Given the description of an element on the screen output the (x, y) to click on. 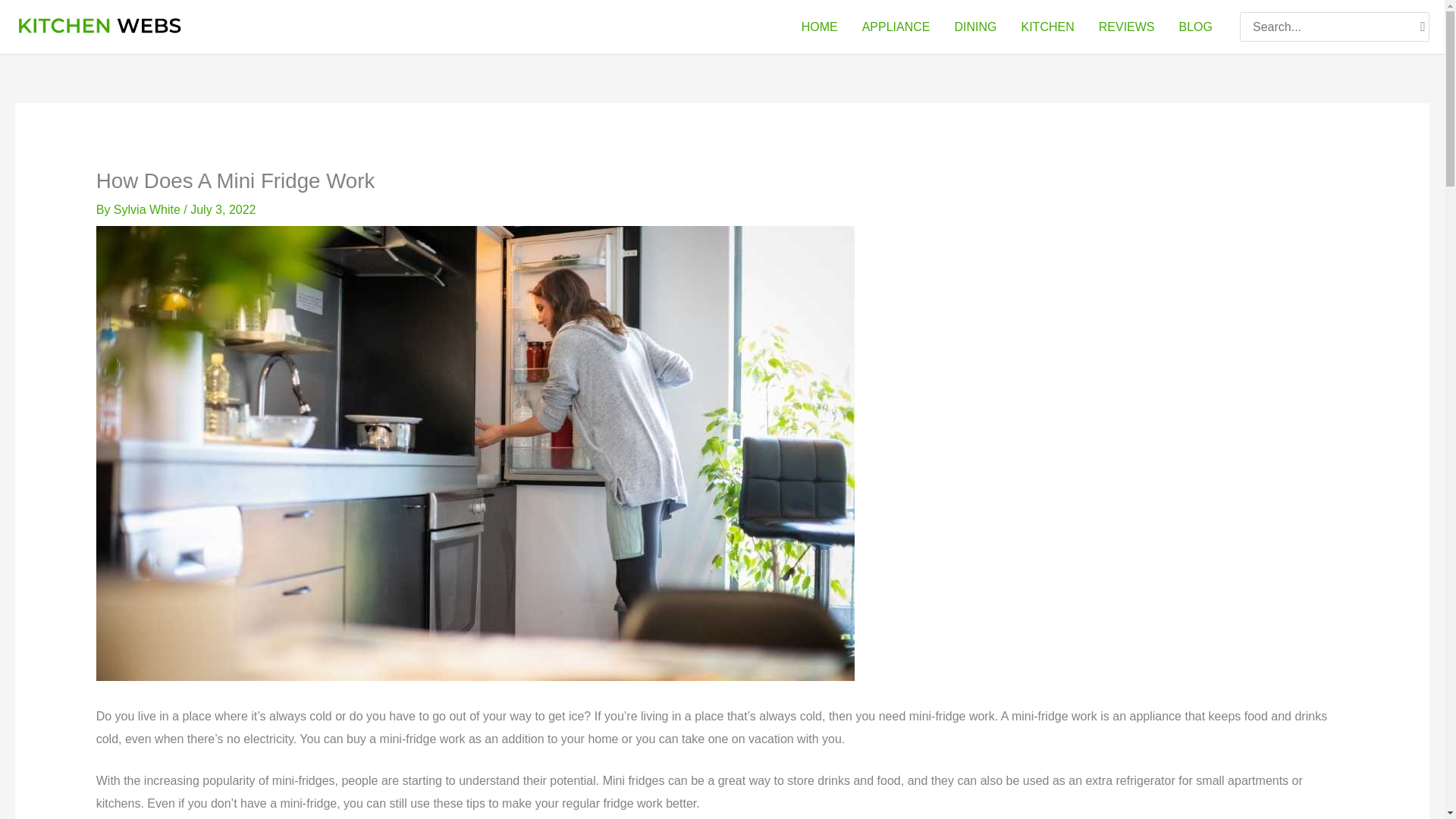
REVIEWS (1126, 27)
APPLIANCE (896, 27)
HOME (819, 27)
DINING (975, 27)
Search (1422, 26)
Sylvia White (148, 209)
BLOG (1195, 27)
View all posts by Sylvia White (148, 209)
KITCHEN (1047, 27)
